Given the description of an element on the screen output the (x, y) to click on. 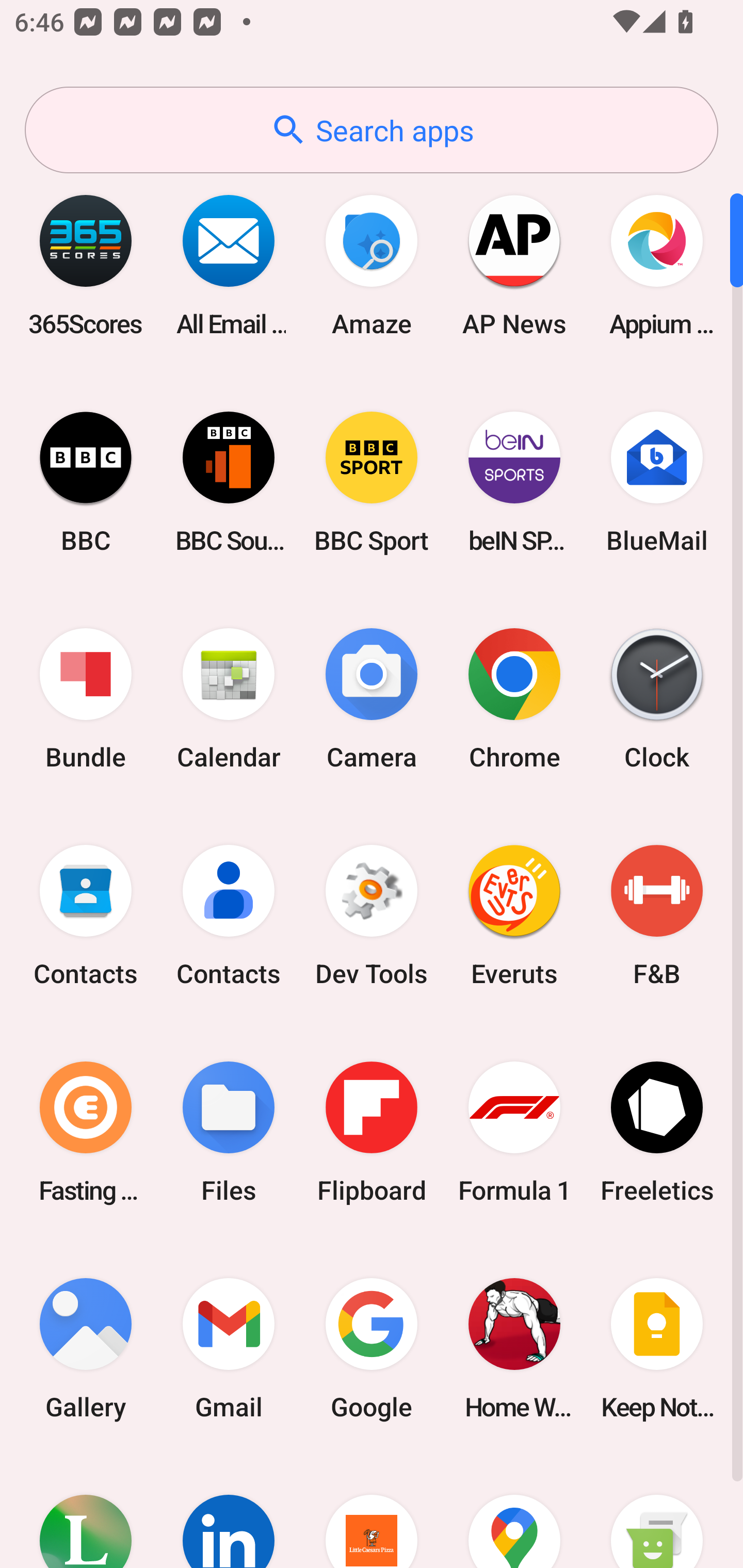
  Search apps (371, 130)
365Scores (85, 264)
All Email Connect (228, 264)
Amaze (371, 264)
AP News (514, 264)
Appium Settings (656, 264)
BBC (85, 482)
BBC Sounds (228, 482)
BBC Sport (371, 482)
beIN SPORTS (514, 482)
BlueMail (656, 482)
Bundle (85, 699)
Calendar (228, 699)
Camera (371, 699)
Chrome (514, 699)
Clock (656, 699)
Contacts (85, 915)
Contacts (228, 915)
Dev Tools (371, 915)
Everuts (514, 915)
F&B (656, 915)
Fasting Coach (85, 1131)
Files (228, 1131)
Flipboard (371, 1131)
Formula 1 (514, 1131)
Freeletics (656, 1131)
Gallery (85, 1348)
Gmail (228, 1348)
Google (371, 1348)
Home Workout (514, 1348)
Keep Notes (656, 1348)
Lifesum (85, 1512)
LinkedIn (228, 1512)
Little Caesars Pizza (371, 1512)
Maps (514, 1512)
Messaging (656, 1512)
